Given the description of an element on the screen output the (x, y) to click on. 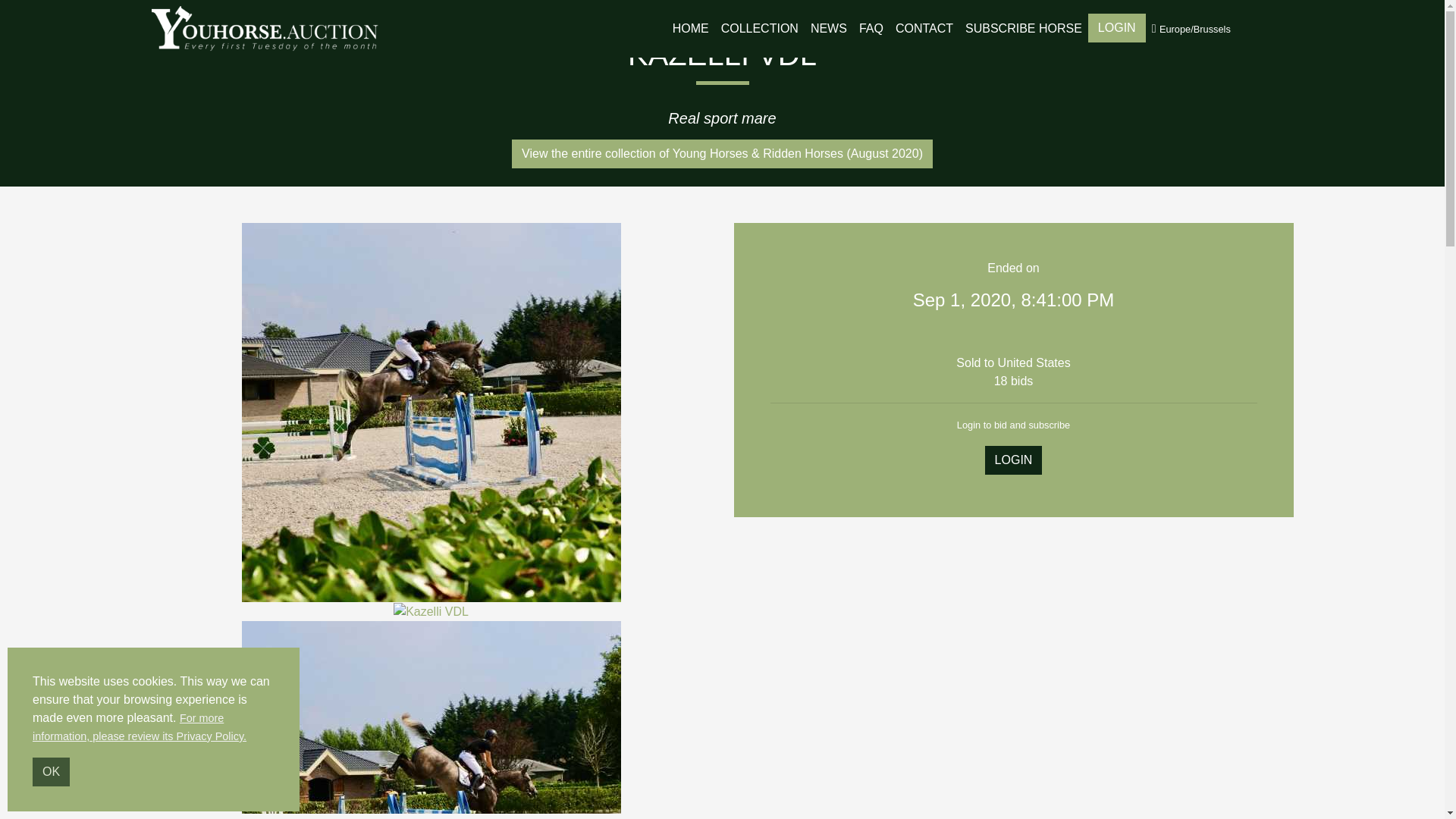
For more information, please review its Privacy Policy. (139, 726)
SUBSCRIBE HORSE (1023, 28)
OK (50, 771)
LOGIN (1116, 27)
COLLECTION (759, 28)
FAQ (871, 28)
NEWS (829, 28)
HOME (690, 28)
CONTACT (924, 28)
LOGIN (1013, 460)
